Given the description of an element on the screen output the (x, y) to click on. 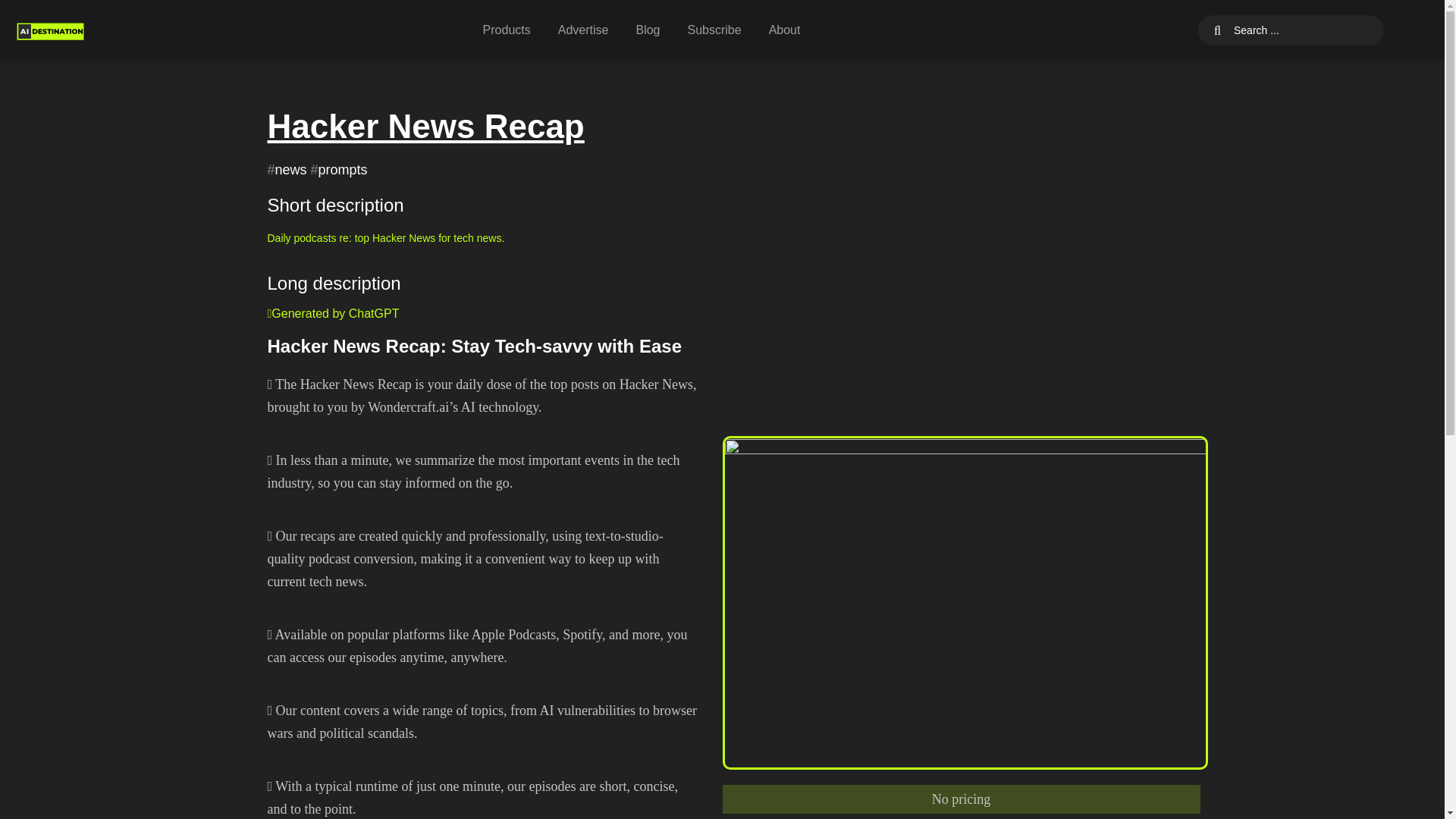
prompts (343, 169)
No pricing (960, 798)
AI Destination (49, 30)
Hacker News Recap (424, 125)
news (291, 169)
